Given the description of an element on the screen output the (x, y) to click on. 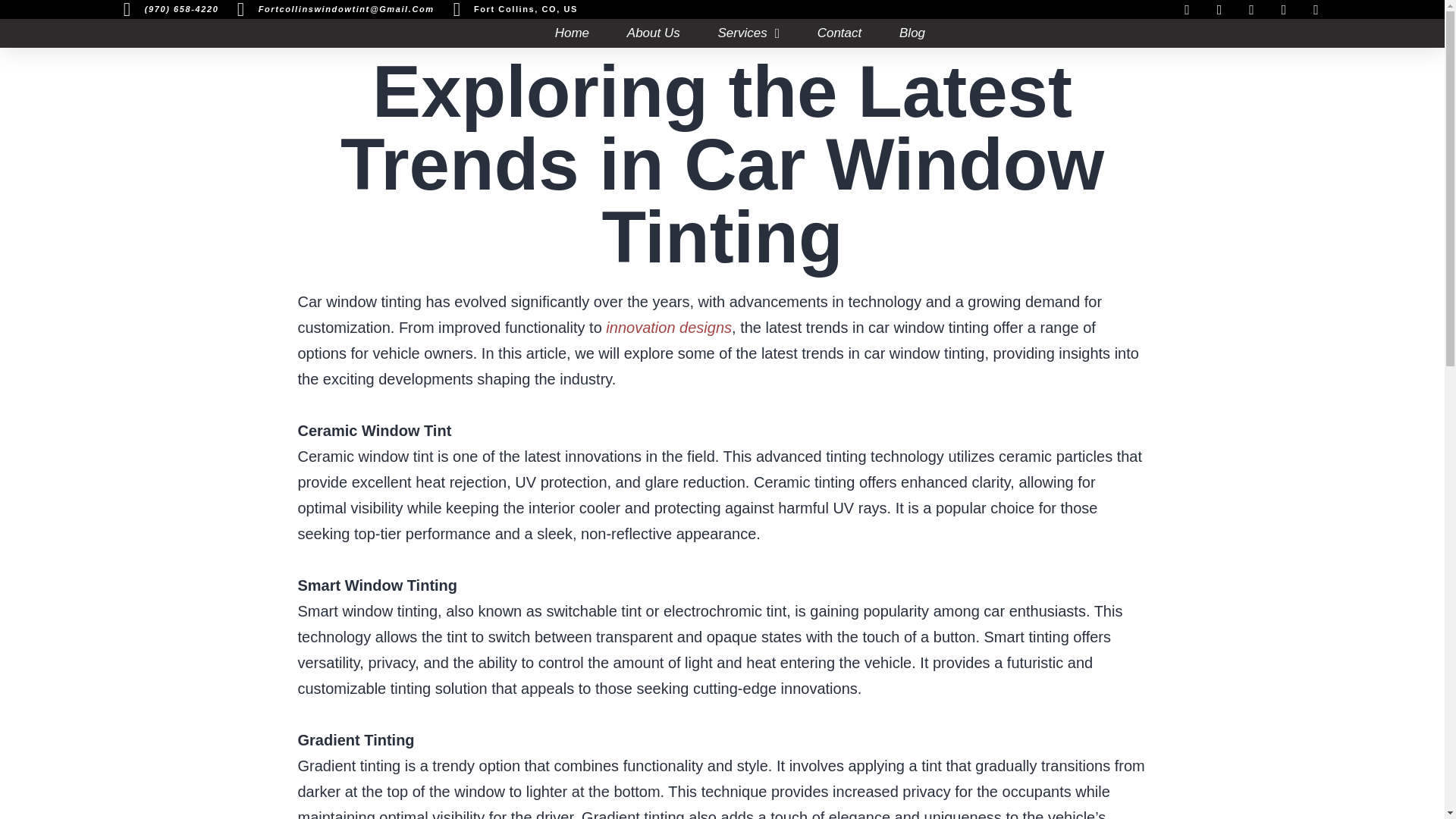
Services (747, 32)
Home (571, 32)
About Us (653, 32)
Blog (911, 32)
Contact (838, 32)
